Given the description of an element on the screen output the (x, y) to click on. 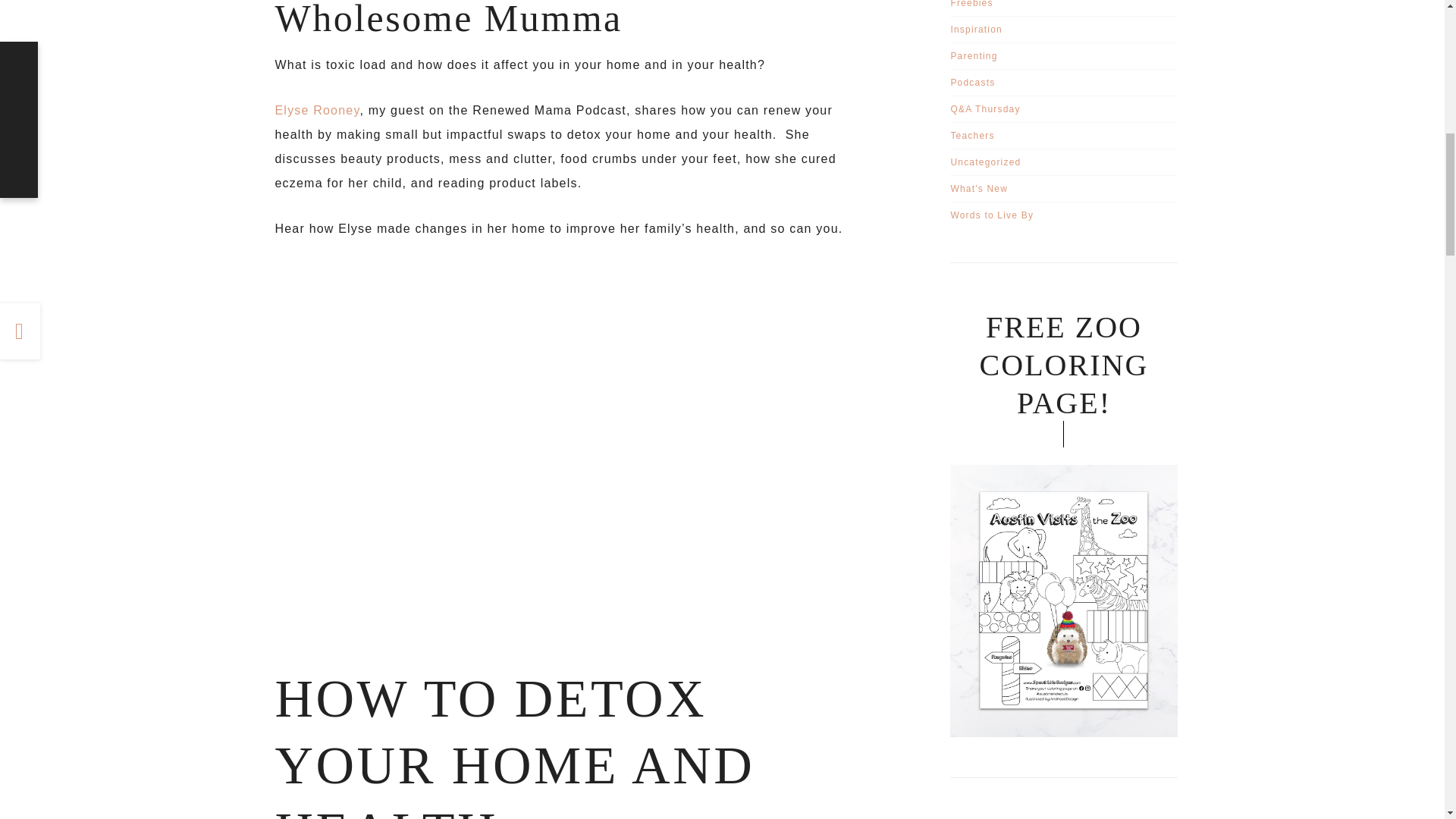
Elyse Rooney (317, 110)
